Given the description of an element on the screen output the (x, y) to click on. 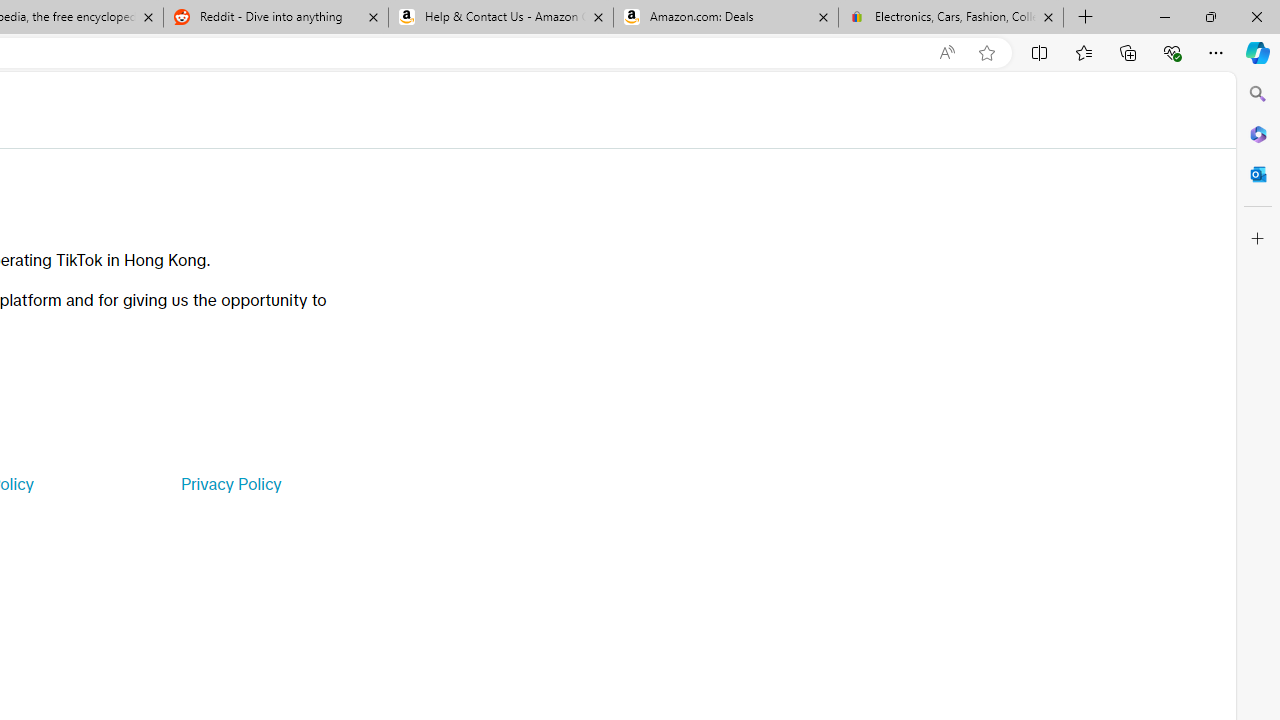
Help & Contact Us - Amazon Customer Service (501, 17)
Amazon.com: Deals (726, 17)
Restore (1210, 16)
Search (1258, 94)
Favorites (1083, 52)
Read aloud this page (Ctrl+Shift+U) (946, 53)
Close tab (1048, 16)
